Given the description of an element on the screen output the (x, y) to click on. 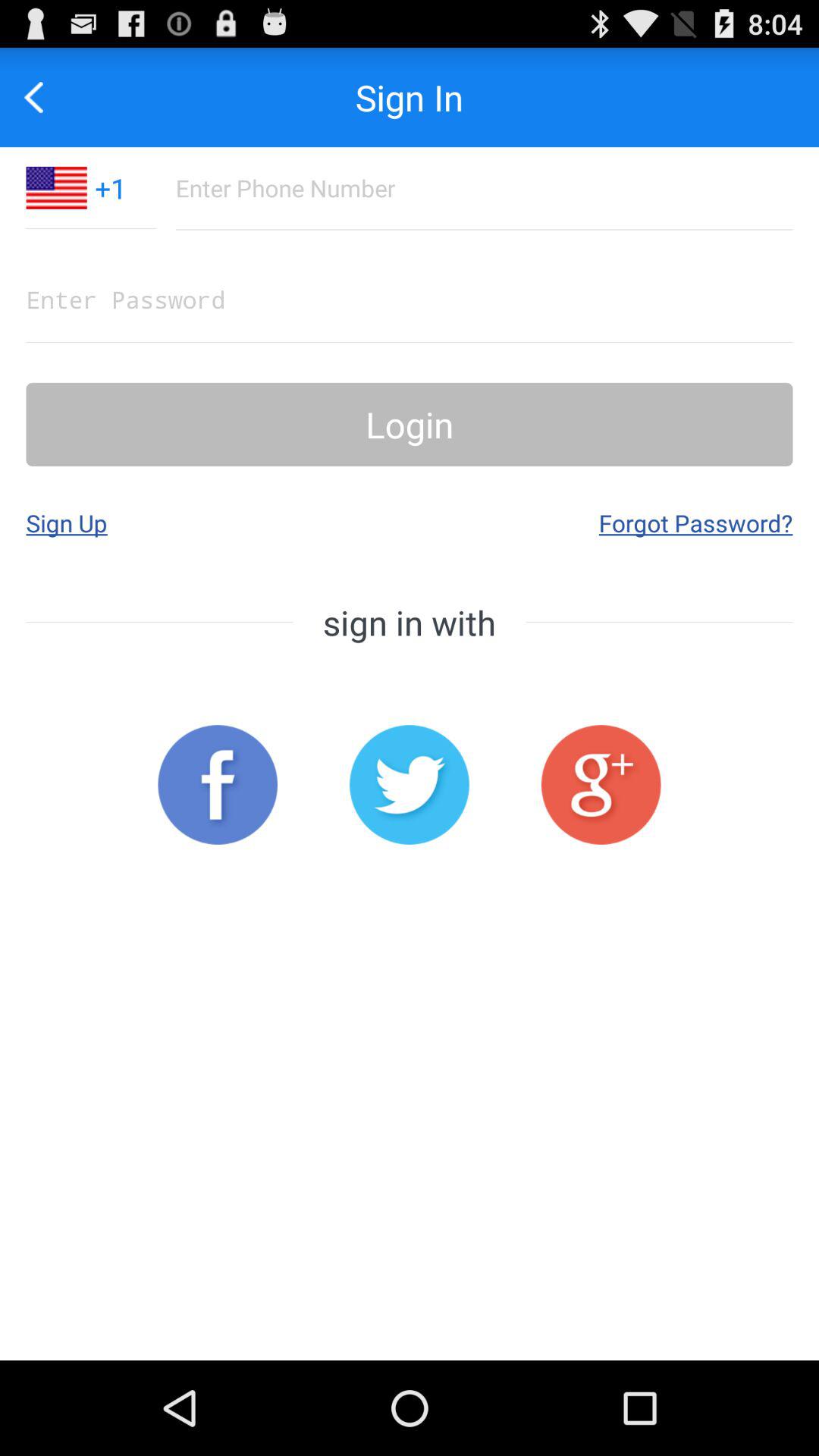
select icon below login (66, 522)
